Given the description of an element on the screen output the (x, y) to click on. 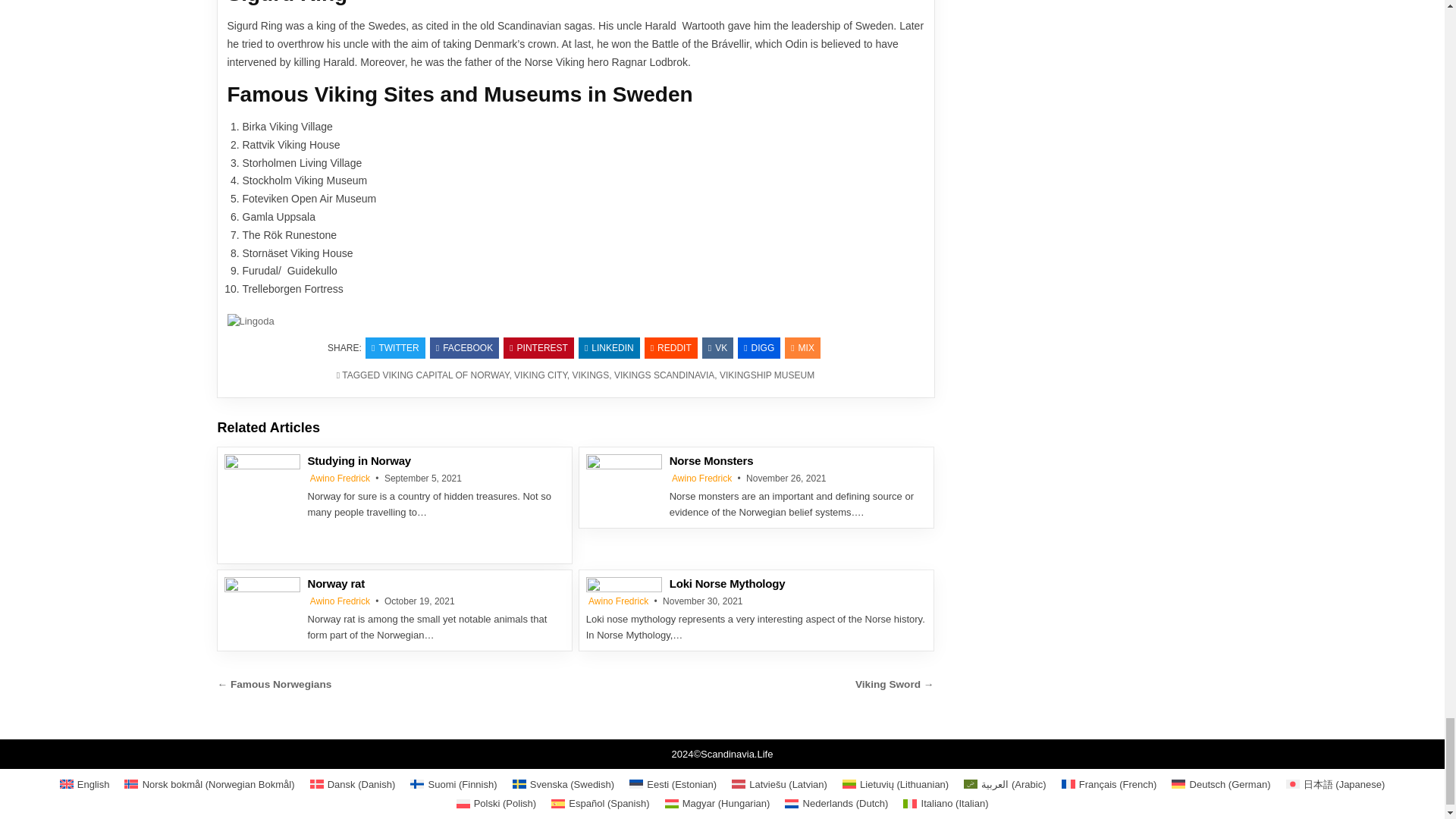
Permanent Link to Norse Monsters (624, 481)
Share this on Mix (802, 347)
Permanent Link to Norway rat (261, 602)
Share this on VK (717, 347)
Share this on Pinterest (538, 347)
Share this on Reddit (671, 347)
Share this on Facebook (464, 347)
Share this on Linkedin (609, 347)
Share this on Digg (759, 347)
Tweet This! (395, 347)
